Given the description of an element on the screen output the (x, y) to click on. 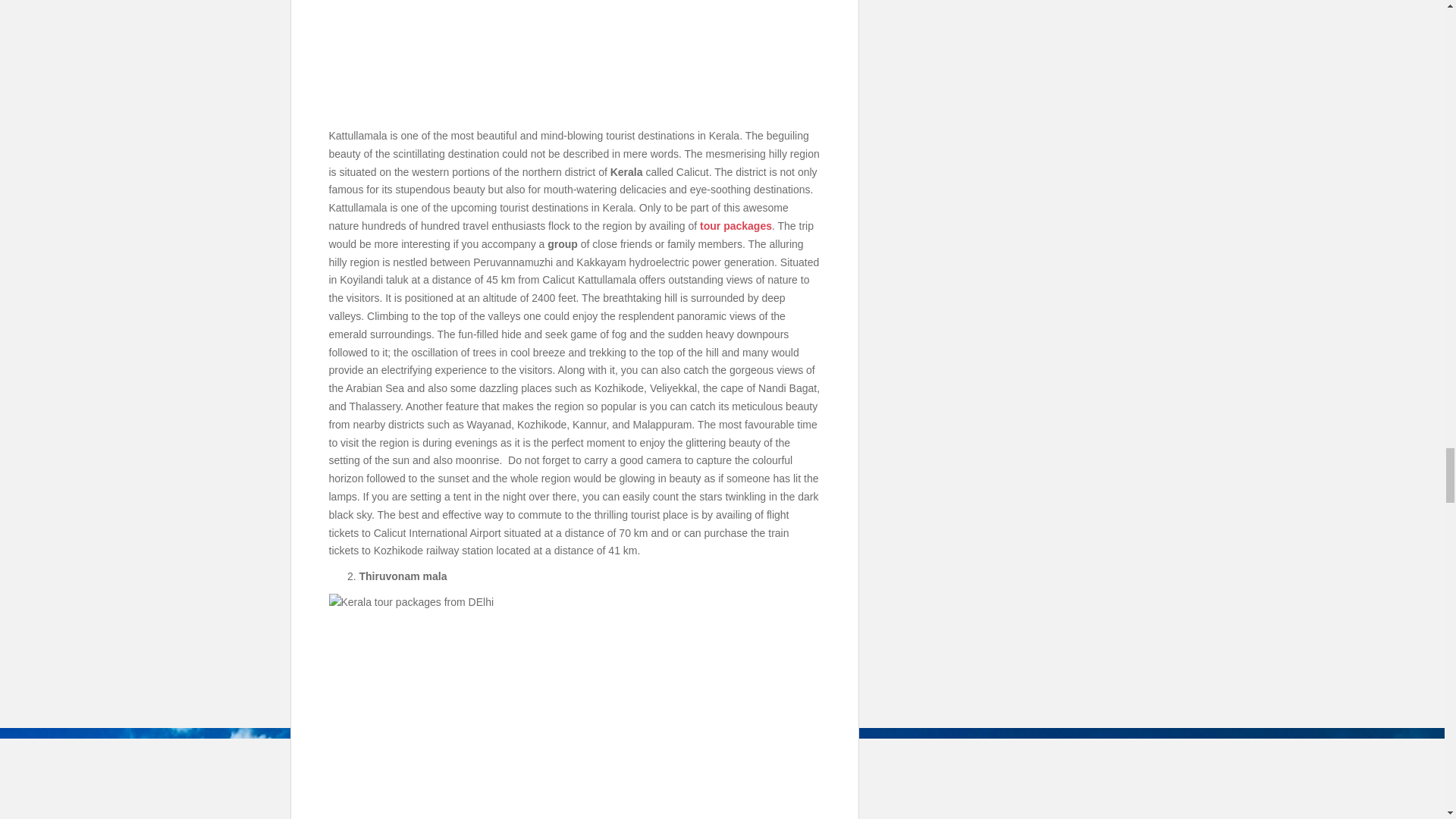
Thiruvonam mala (575, 706)
tour packages (735, 225)
Kattullamala (575, 59)
